Given the description of an element on the screen output the (x, y) to click on. 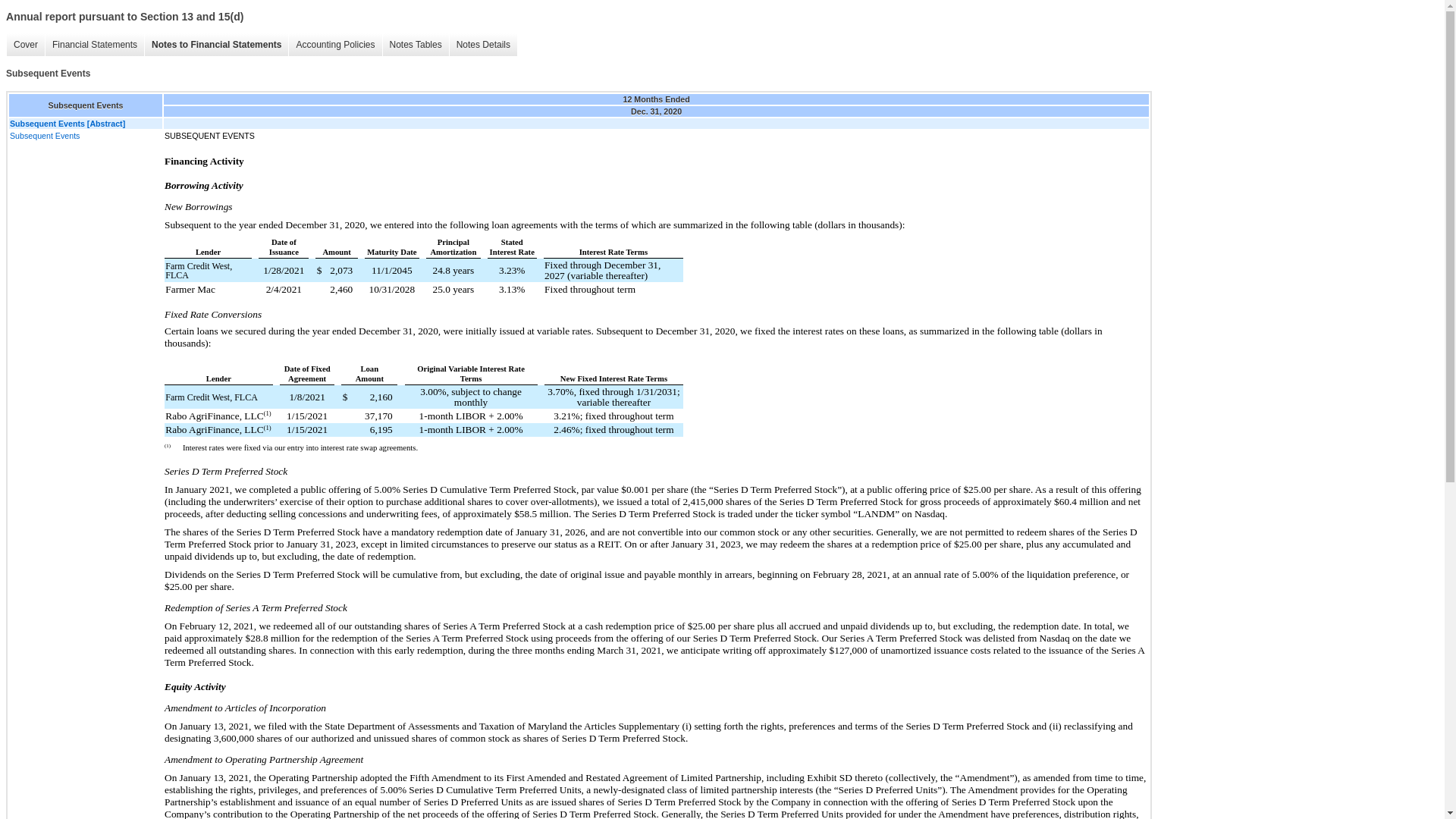
Accounting Policies (334, 44)
Notes Tables (414, 44)
Financial Statements (94, 44)
Cover (25, 44)
Notes Details (482, 44)
Notes to Financial Statements (216, 44)
